Given the description of an element on the screen output the (x, y) to click on. 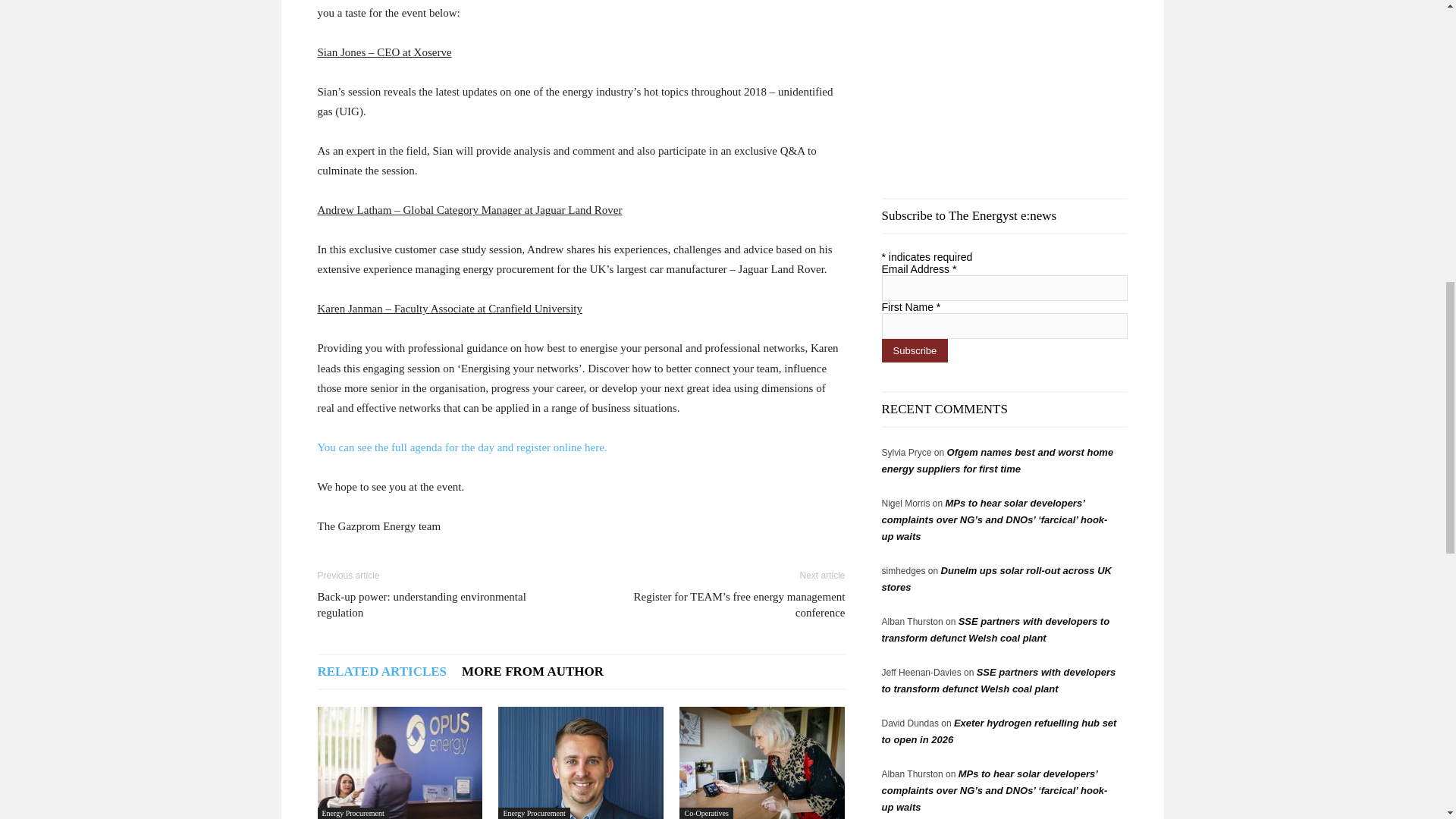
Subscribe (913, 350)
